Given the description of an element on the screen output the (x, y) to click on. 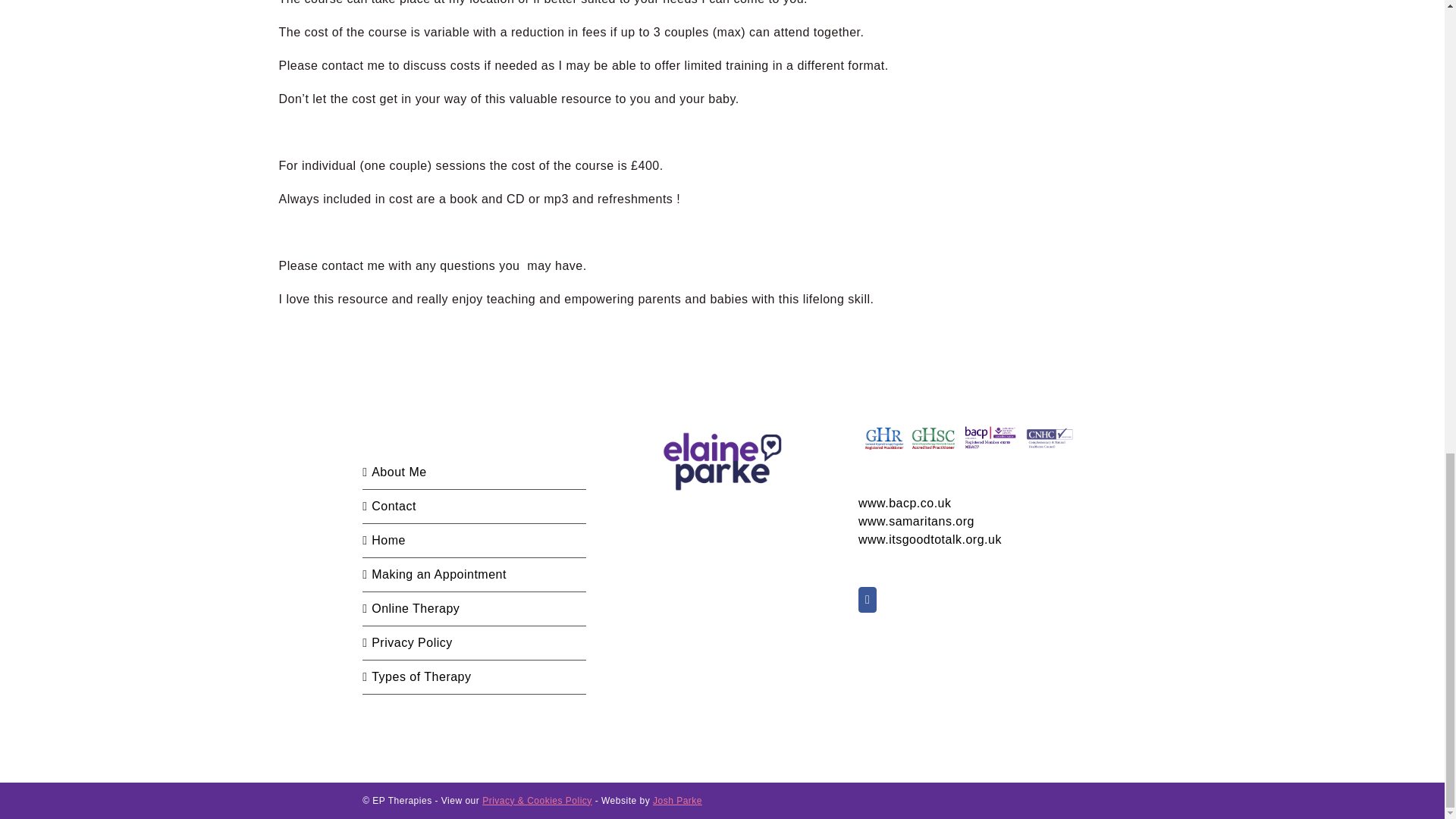
Home (474, 540)
Contact (474, 506)
Making an Appointment (474, 574)
www.bacp.co.uk (905, 502)
Types of Therapy (474, 677)
www.samaritans.org (916, 521)
Online Therapy (474, 608)
Josh Parke (676, 800)
About Me (474, 472)
Privacy Policy (474, 642)
